Given the description of an element on the screen output the (x, y) to click on. 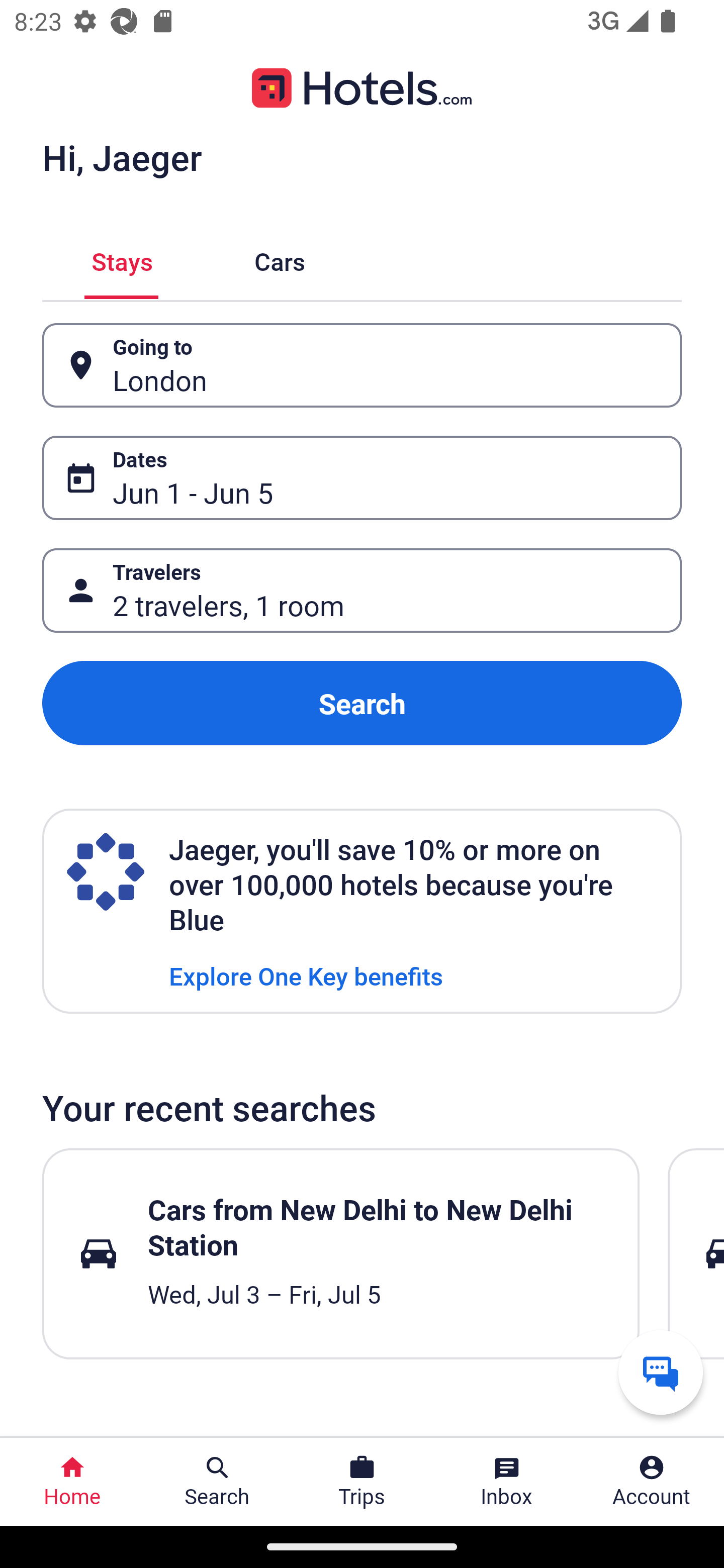
Hi, Jaeger (121, 156)
Cars (279, 259)
Going to Button London (361, 365)
Dates Button Jun 1 - Jun 5 (361, 477)
Travelers Button 2 travelers, 1 room (361, 590)
Search (361, 702)
Get help from a virtual agent (660, 1371)
Search Search Button (216, 1481)
Trips Trips Button (361, 1481)
Inbox Inbox Button (506, 1481)
Account Profile. Button (651, 1481)
